Given the description of an element on the screen output the (x, y) to click on. 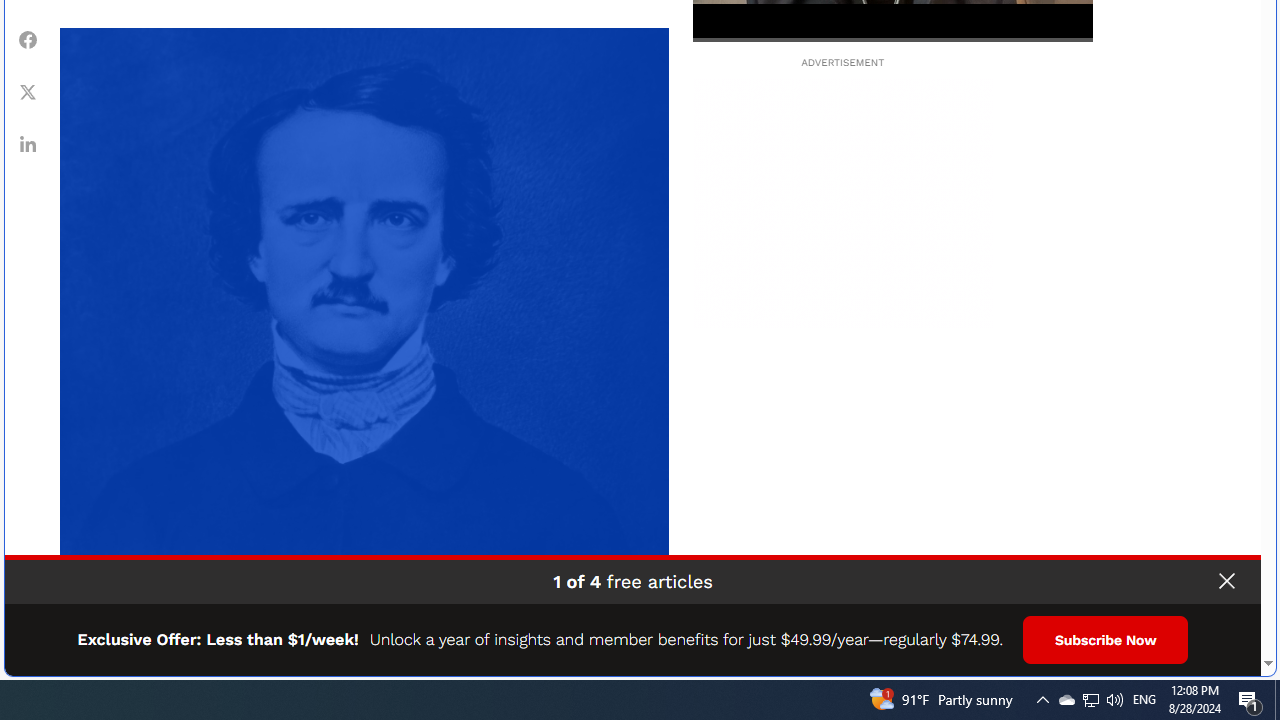
Privacy (1209, 653)
Class: article-sharing__item (28, 143)
Terms (1242, 653)
Share Facebook (28, 39)
Class: fs-icon fs-icon--xCorp (28, 91)
Class: fs-icon fs-icon--linkedin (28, 143)
Share Twitter (28, 91)
Subscribe Now (1105, 639)
Share Linkedin (28, 143)
Class: fs-icon fs-icon--Facebook (27, 39)
Class: close-button unbutton (1226, 581)
Portrait of Edgar Allan Poe. (364, 332)
Seek (892, 38)
